Given the description of an element on the screen output the (x, y) to click on. 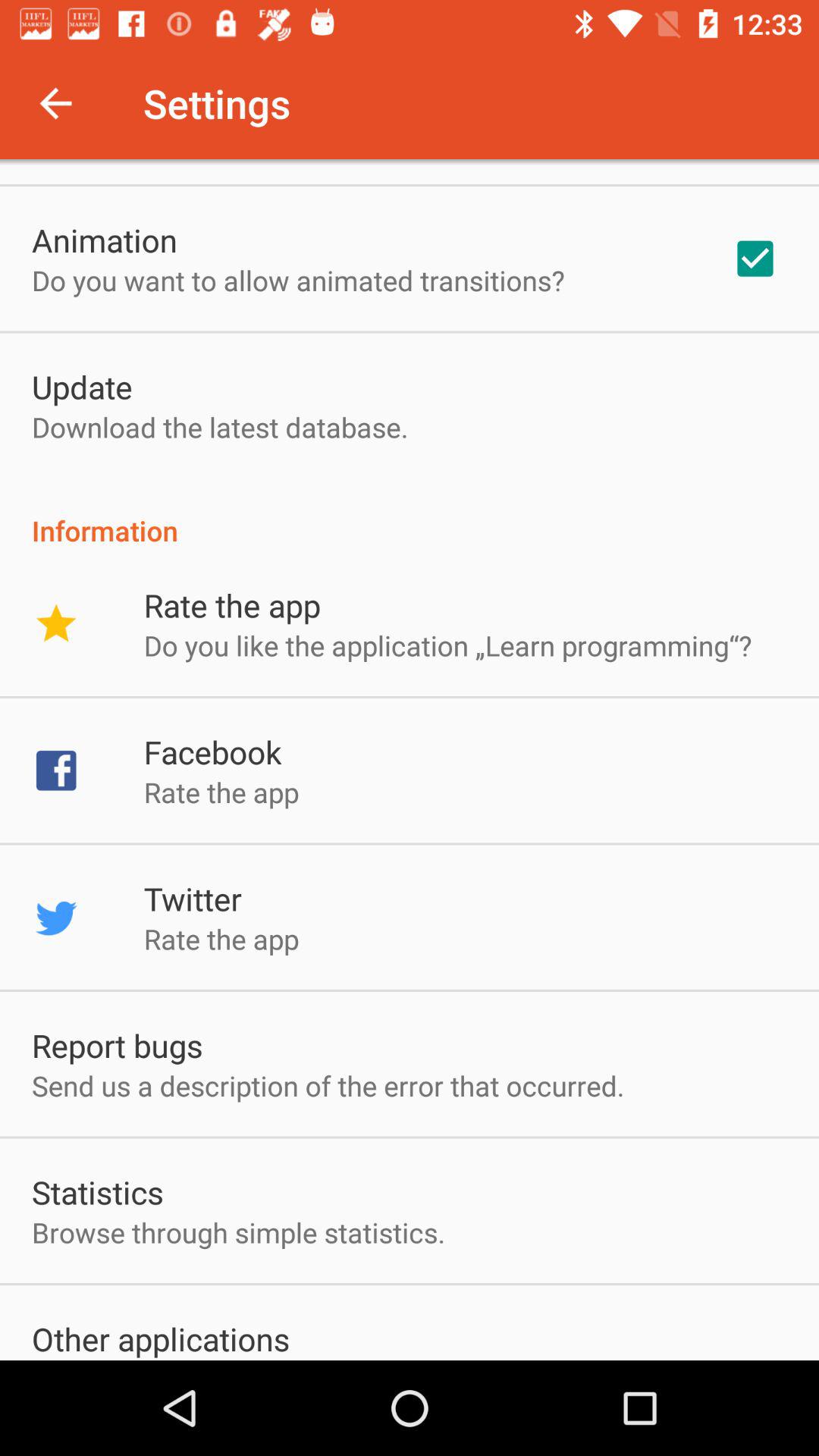
open item to the left of the settings app (55, 103)
